Given the description of an element on the screen output the (x, y) to click on. 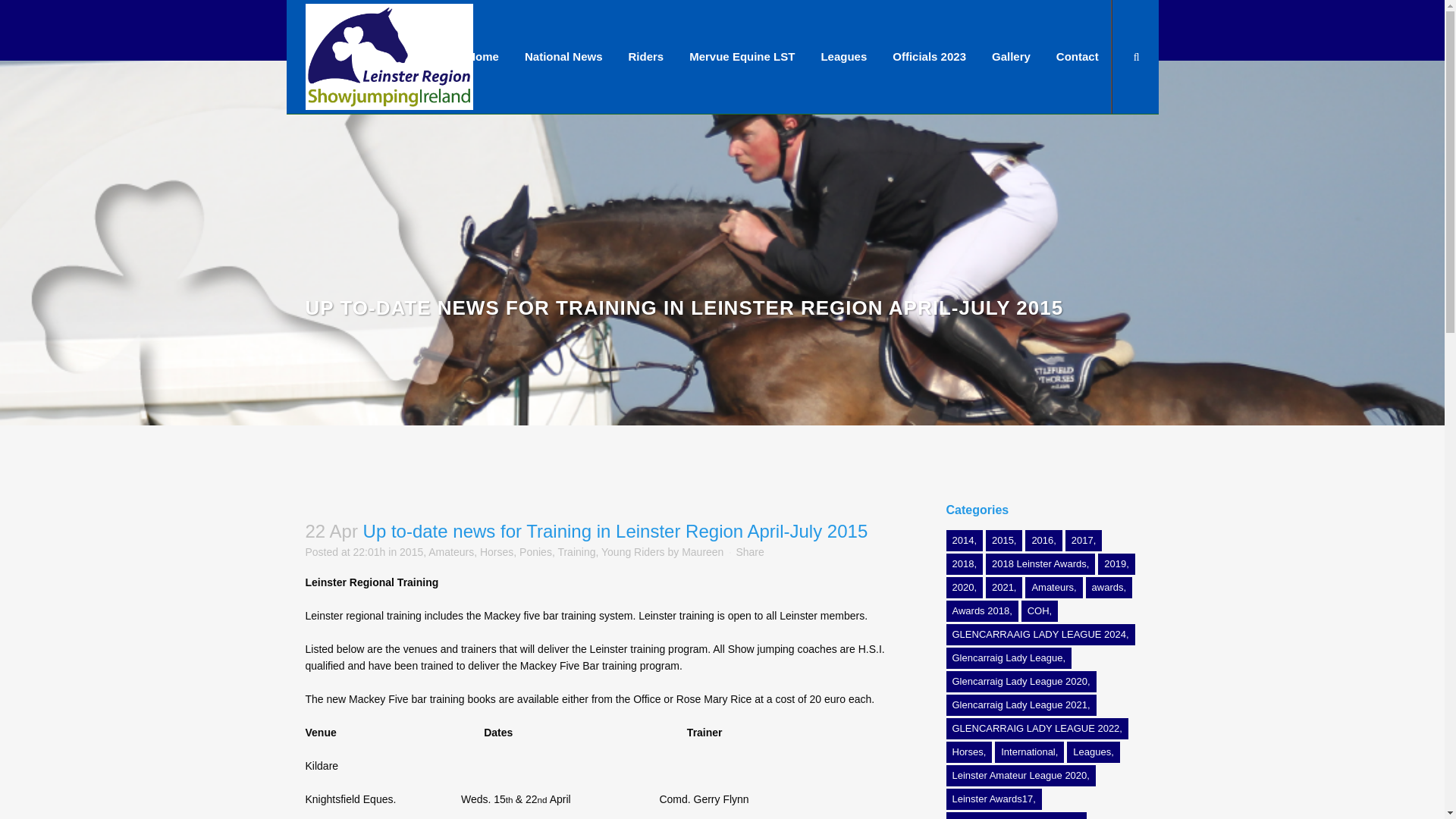
Mervue Equine LST (742, 56)
National News (563, 56)
